Given the description of an element on the screen output the (x, y) to click on. 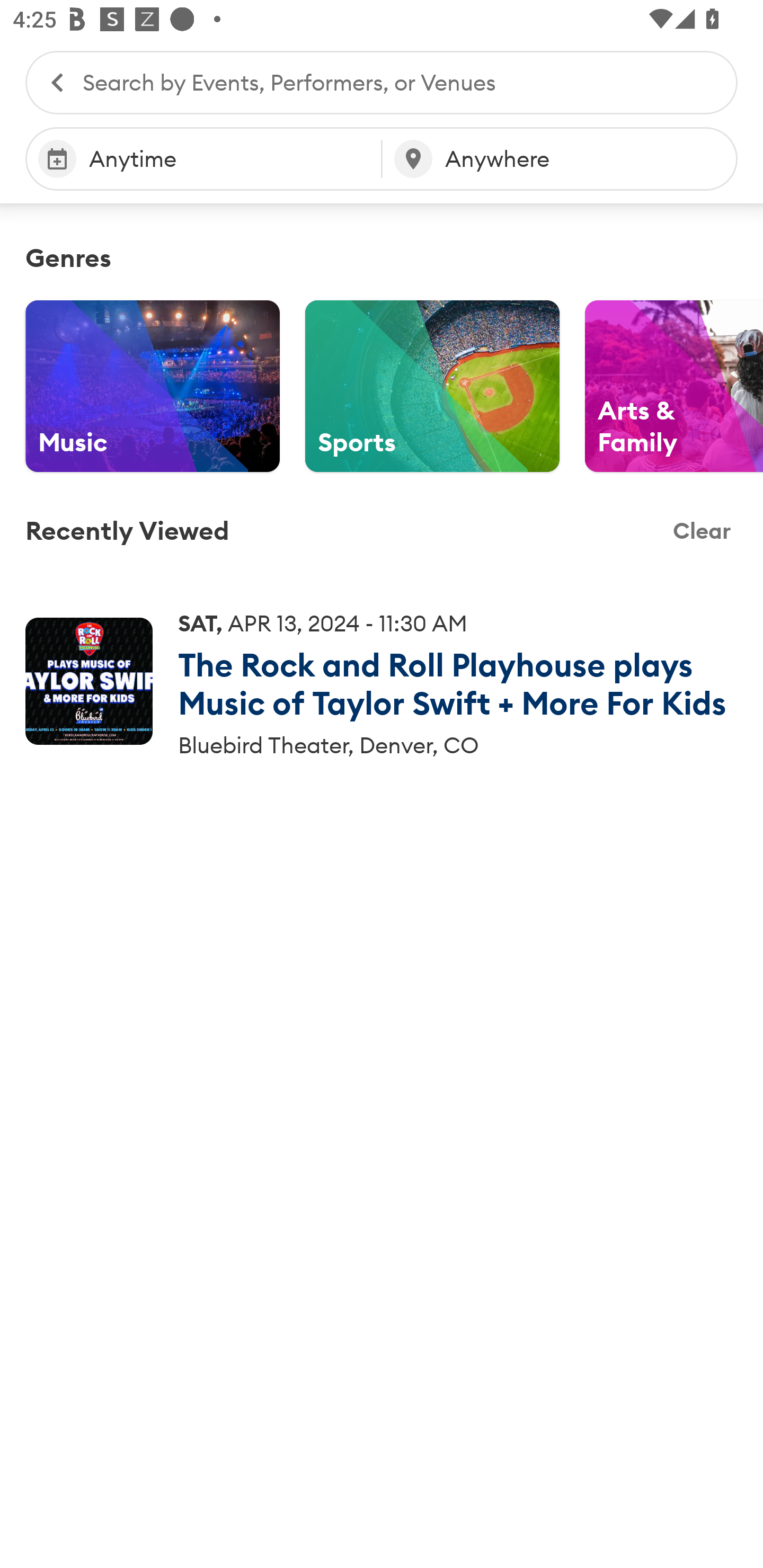
BackButton (47, 81)
Anytime (203, 158)
Anywhere (559, 158)
Music (152, 386)
Sports (432, 386)
Arts & Family (674, 386)
Clear (701, 531)
